Given the description of an element on the screen output the (x, y) to click on. 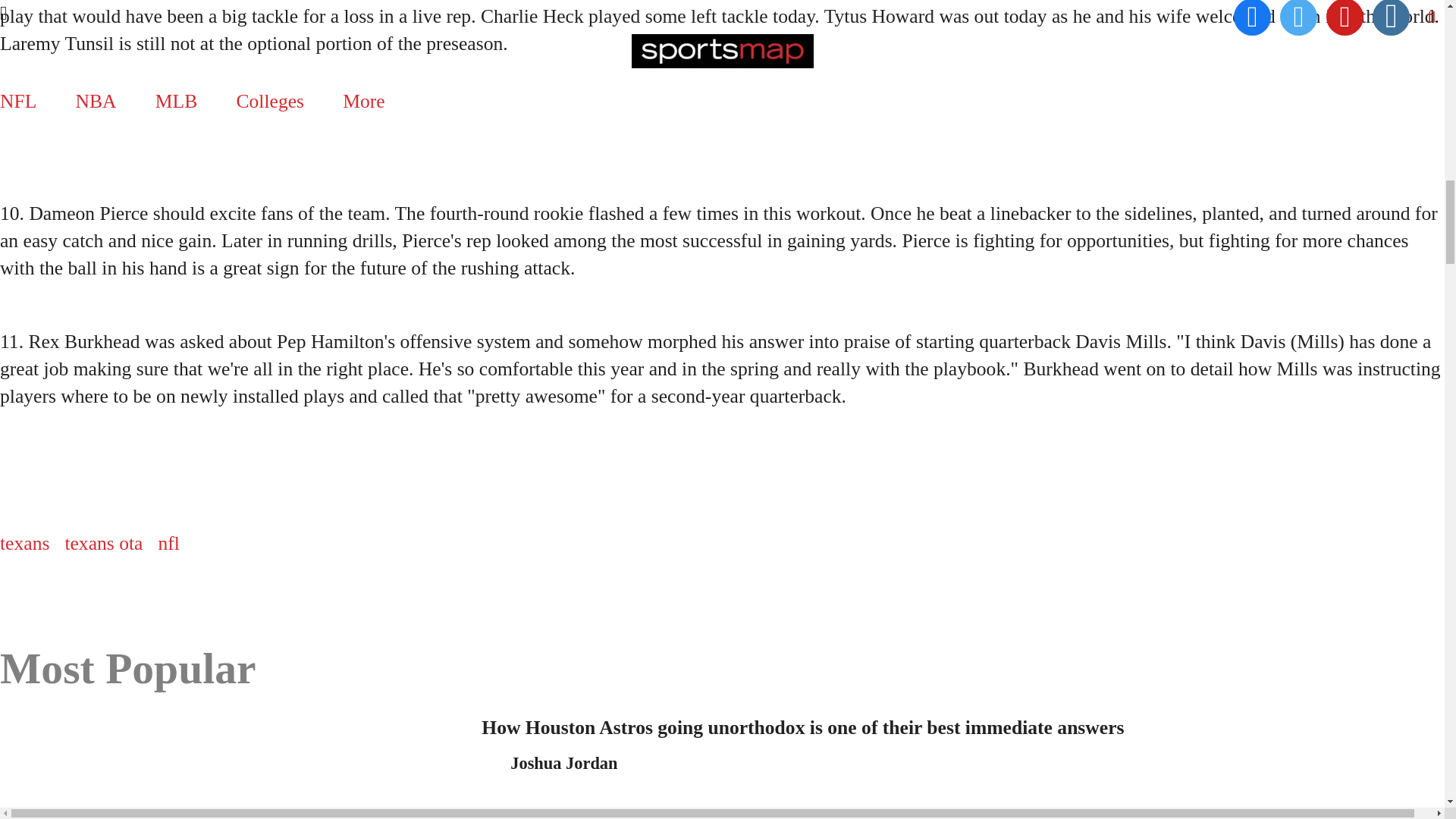
texans ota (103, 543)
Joshua Jordan (564, 763)
nfl (168, 543)
texans (24, 543)
